Given the description of an element on the screen output the (x, y) to click on. 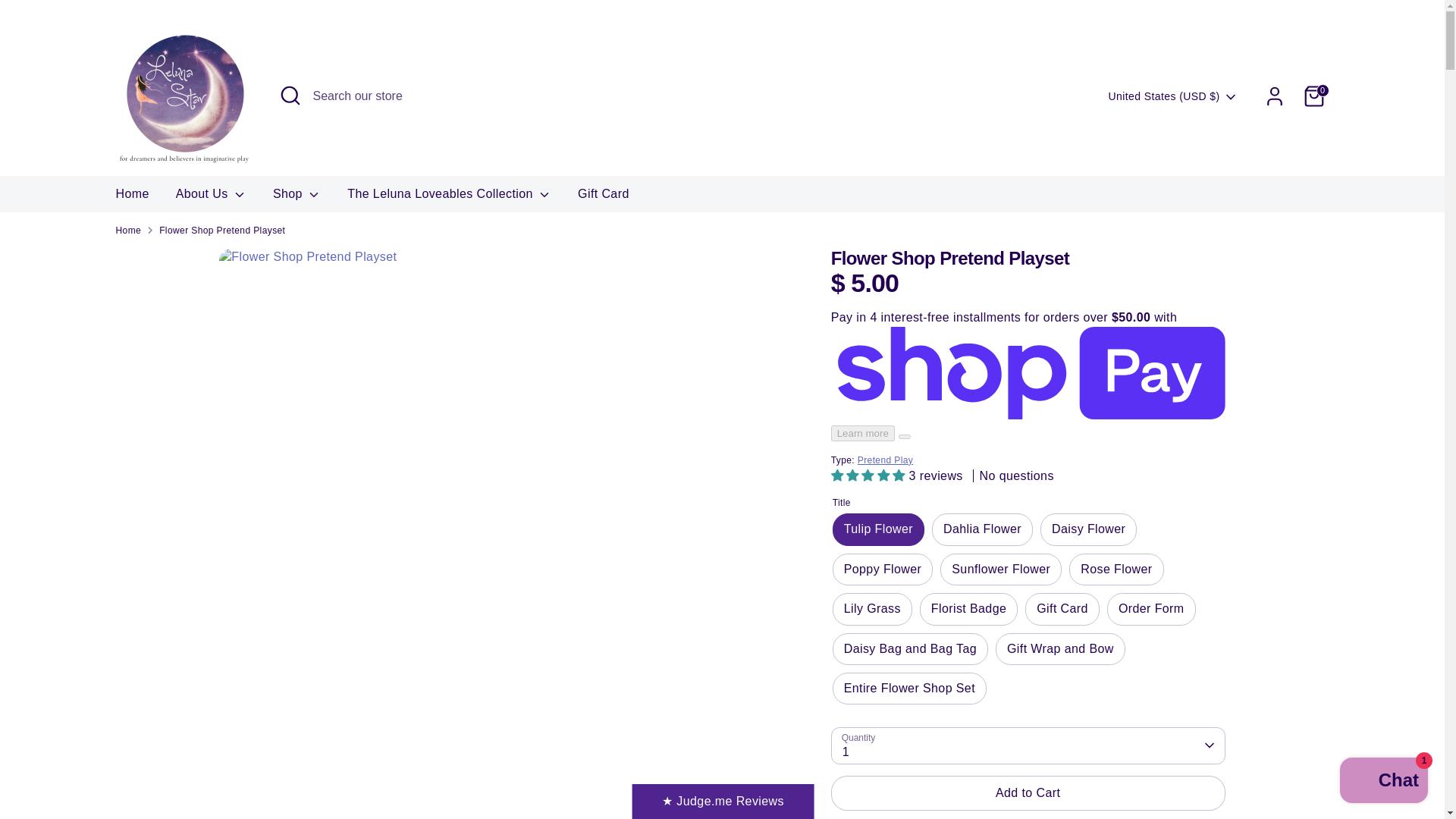
Smile.io Rewards Program Launcher (69, 780)
0 (1312, 96)
Shopify online store chat (1383, 781)
